Given the description of an element on the screen output the (x, y) to click on. 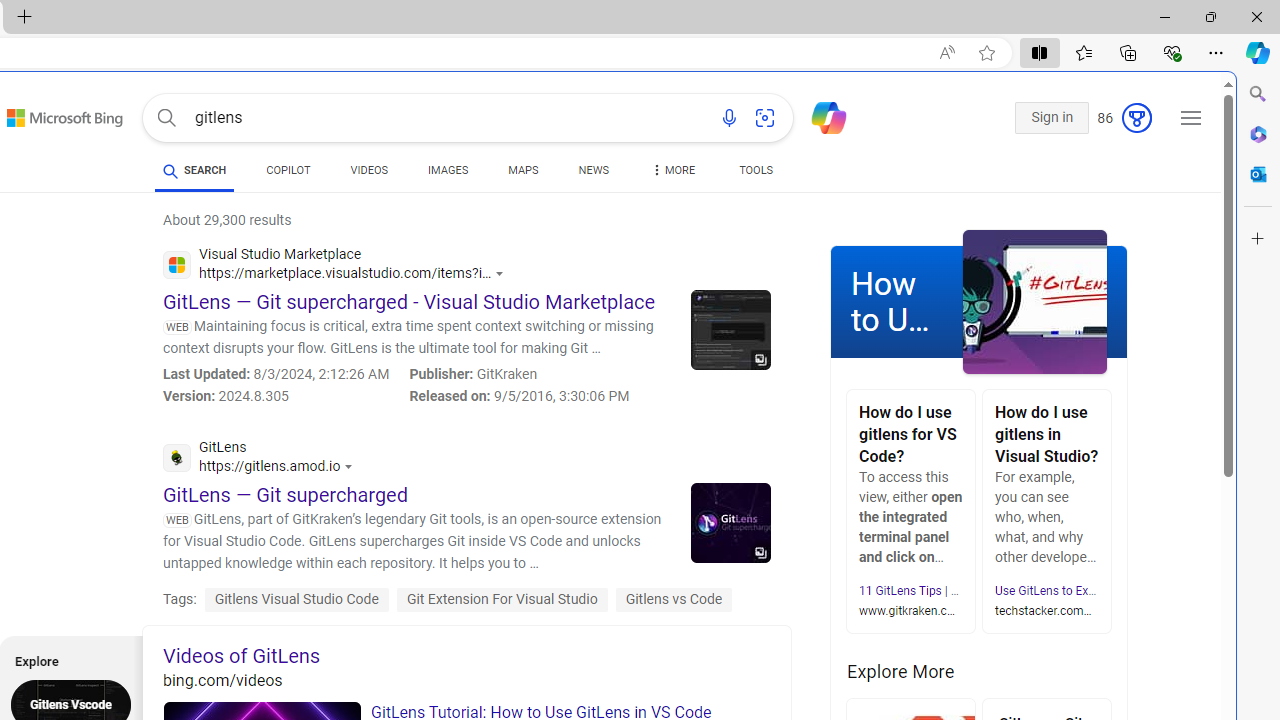
Search using voice (728, 117)
